Given the description of an element on the screen output the (x, y) to click on. 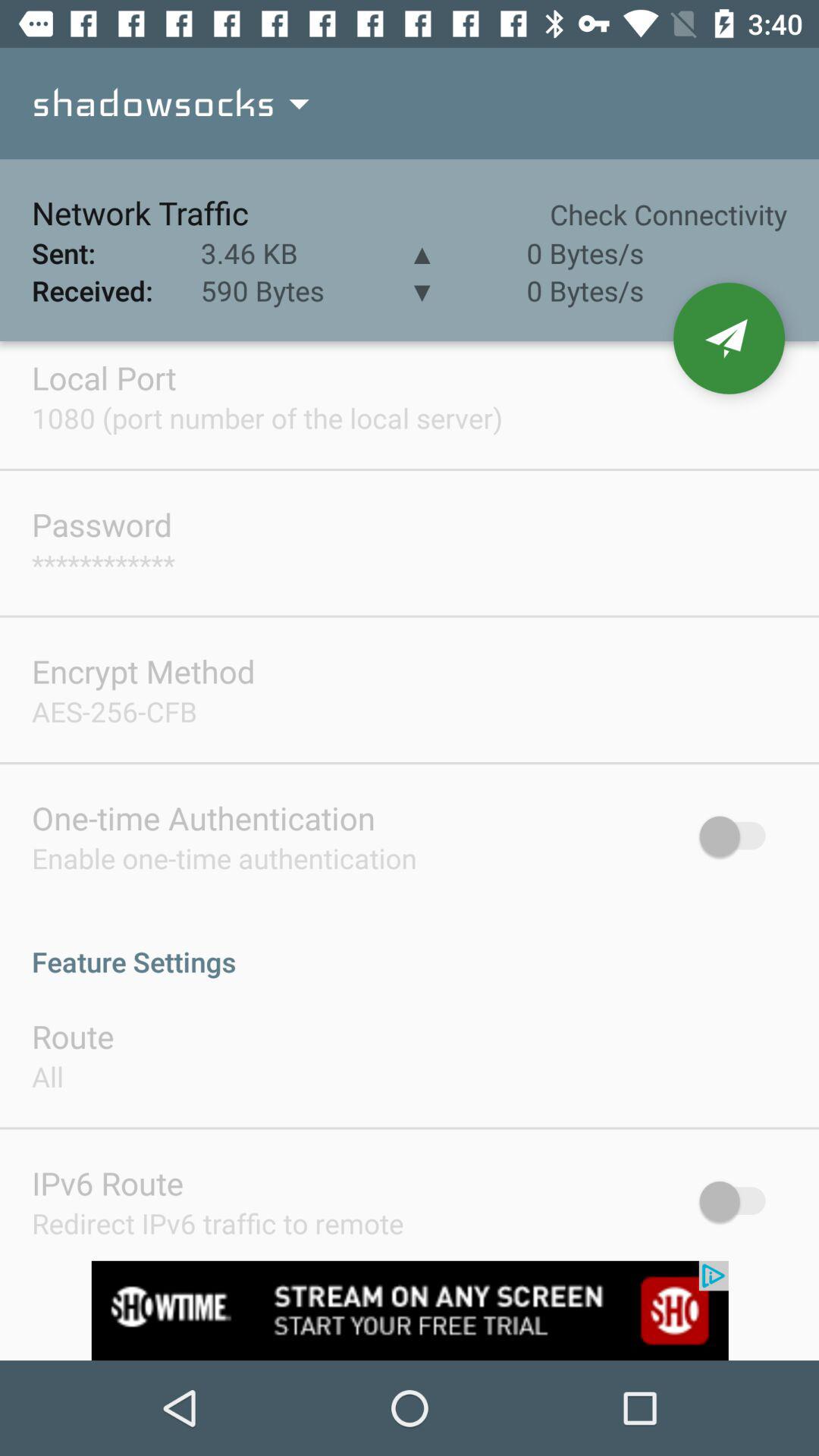
open location options (728, 338)
